Given the description of an element on the screen output the (x, y) to click on. 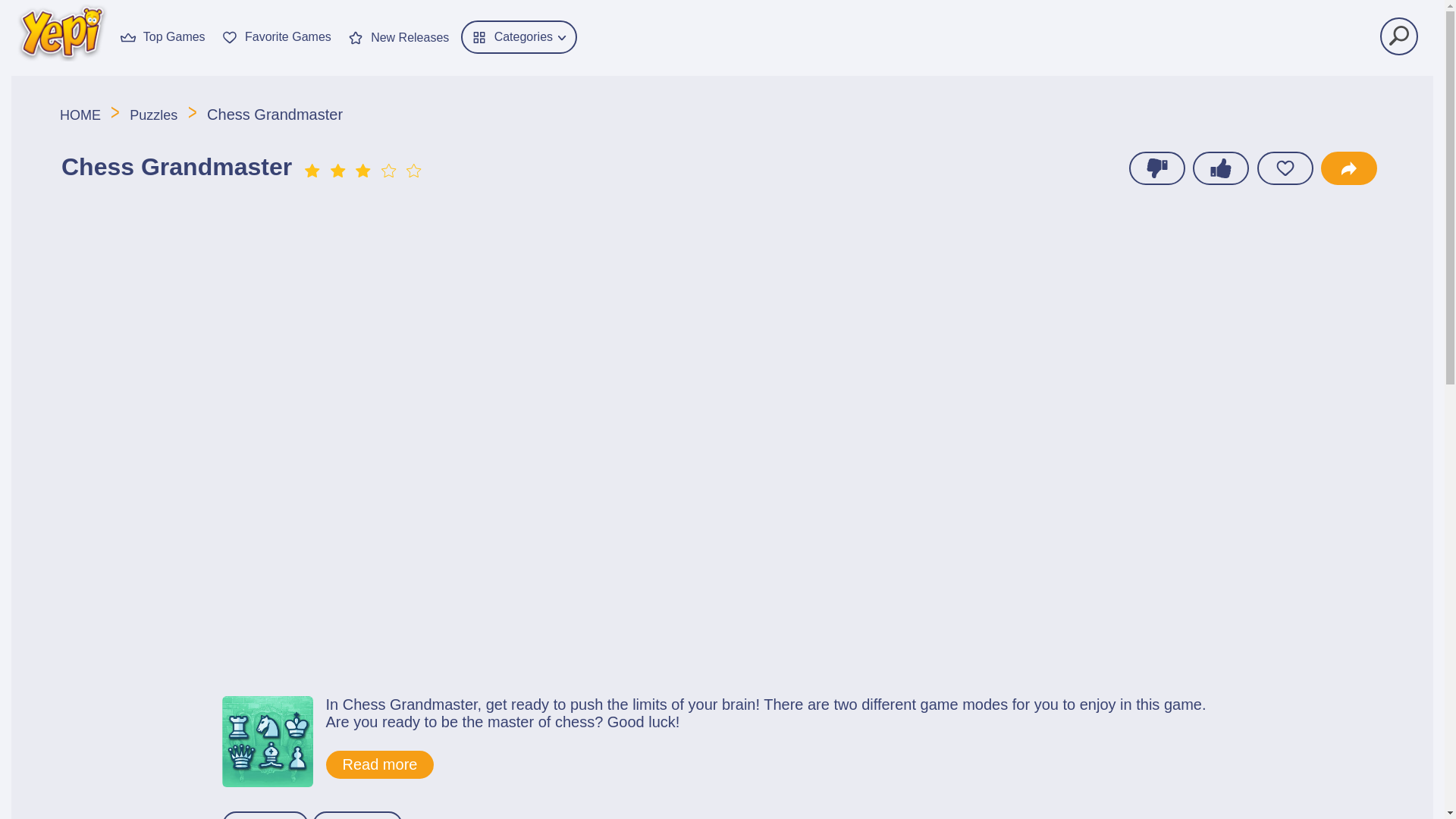
Puzzles (264, 815)
New Releases (397, 35)
Puzzles (153, 114)
HOME (81, 114)
Top Games (162, 35)
Favorite Games (275, 35)
Strategy (357, 815)
Categories (518, 37)
